Given the description of an element on the screen output the (x, y) to click on. 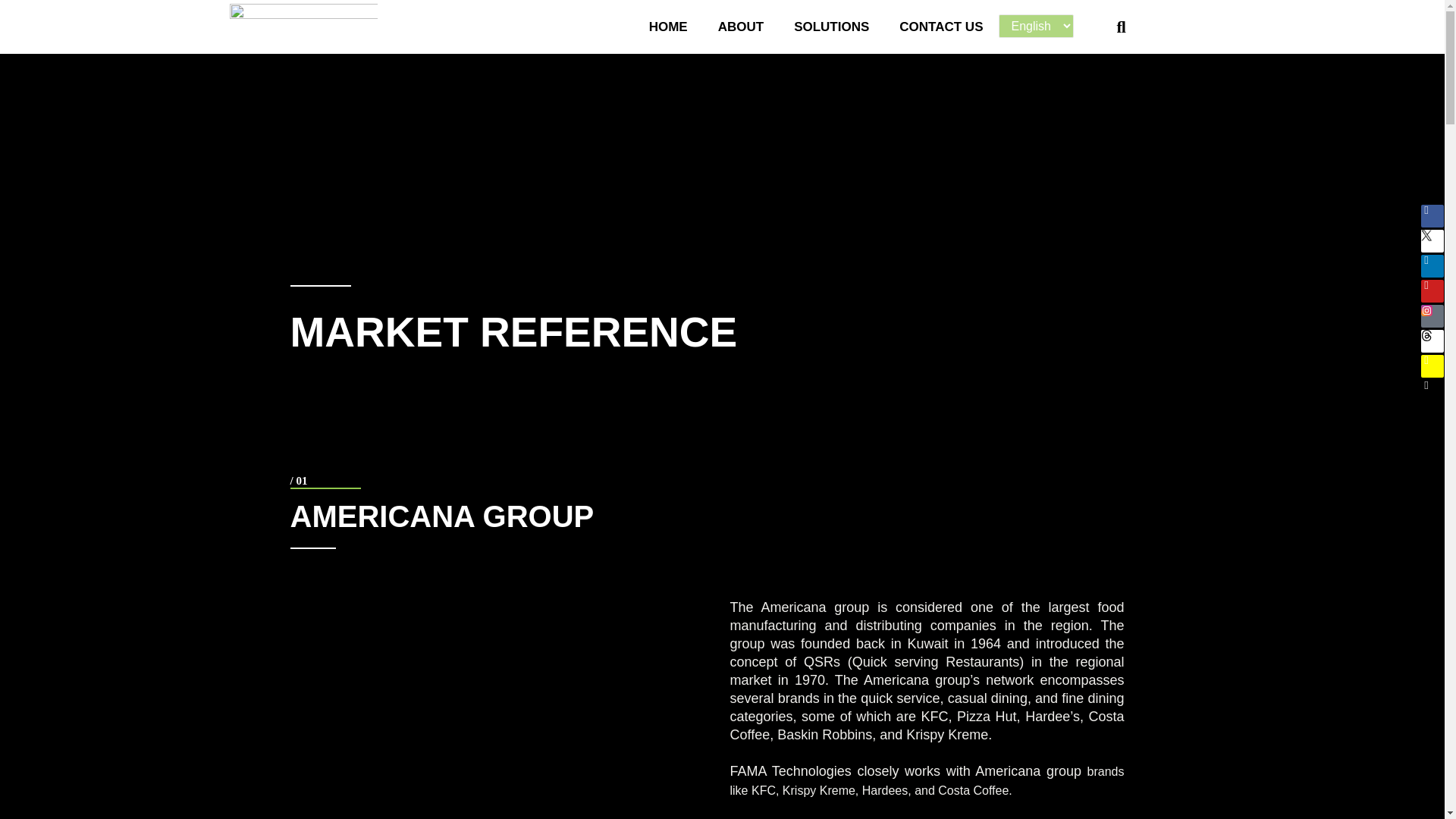
HOME (668, 26)
SOLUTIONS (830, 26)
Americana 1 (505, 744)
ABOUT (740, 26)
CONTACT US (940, 26)
